Given the description of an element on the screen output the (x, y) to click on. 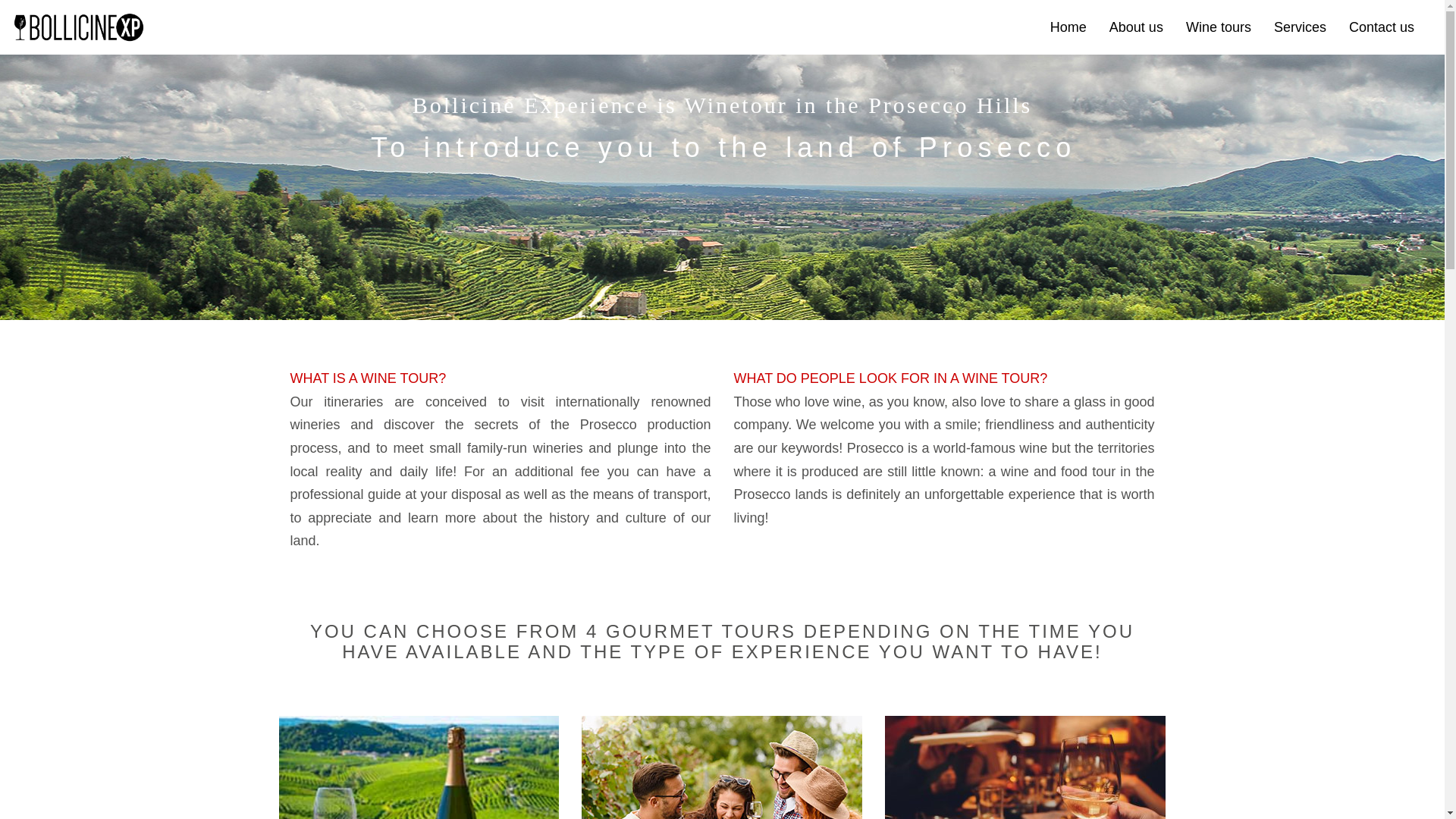
Home (1068, 27)
Contact us (1381, 27)
Wine tours (1218, 27)
About us (1135, 27)
Services (1300, 27)
